Given the description of an element on the screen output the (x, y) to click on. 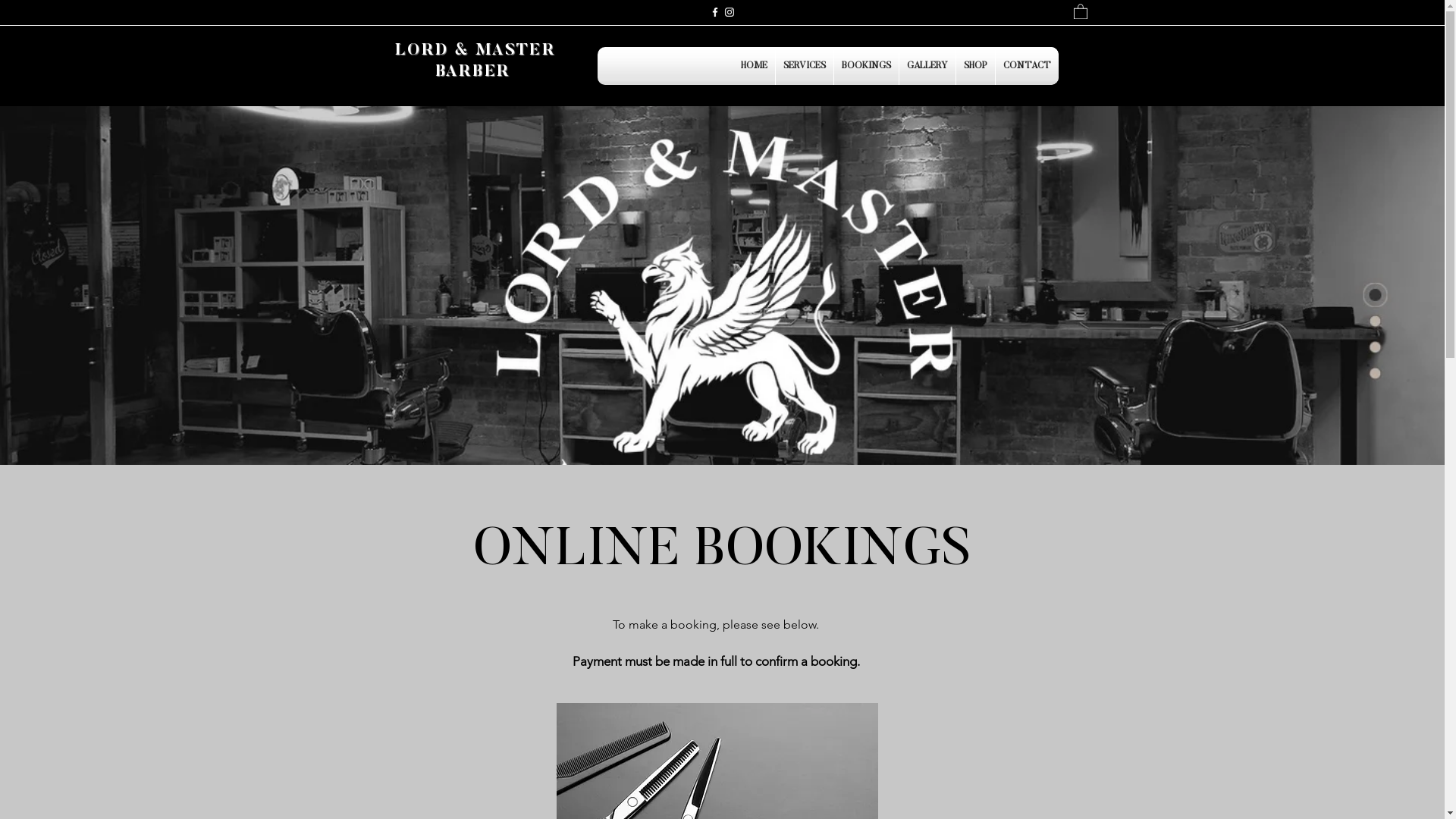
GALLERY Element type: text (927, 65)
BOOKINGS Element type: text (866, 65)
CONTACT Element type: text (1025, 65)
SERVICES Element type: text (803, 65)
0 Element type: text (1080, 10)
SHOP Element type: text (974, 65)
HOME Element type: text (753, 65)
BARBER  Element type: text (475, 69)
LORD & MASTER Element type: text (475, 48)
